Given the description of an element on the screen output the (x, y) to click on. 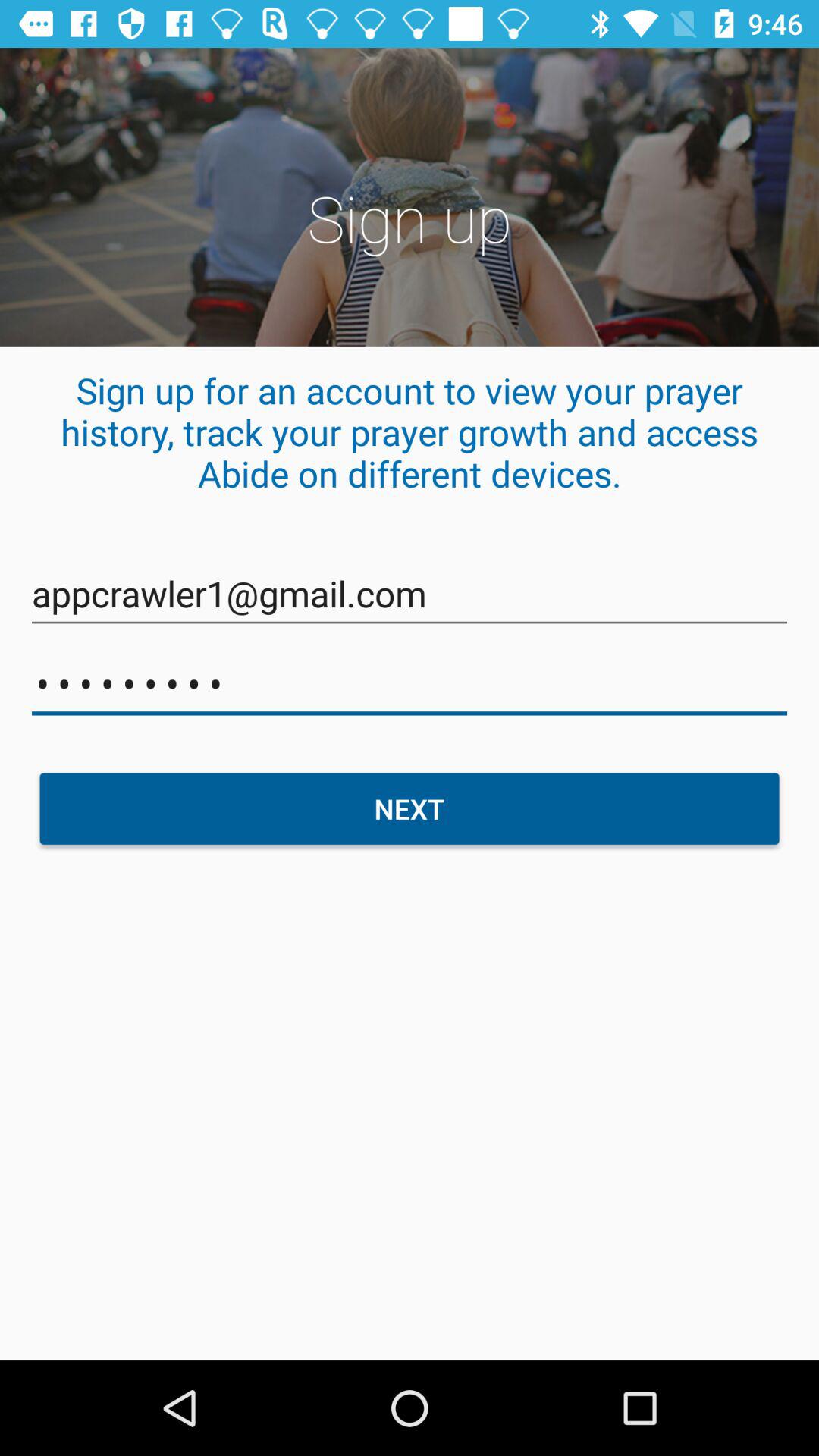
scroll until the appcrawler1@gmail.com (409, 594)
